Given the description of an element on the screen output the (x, y) to click on. 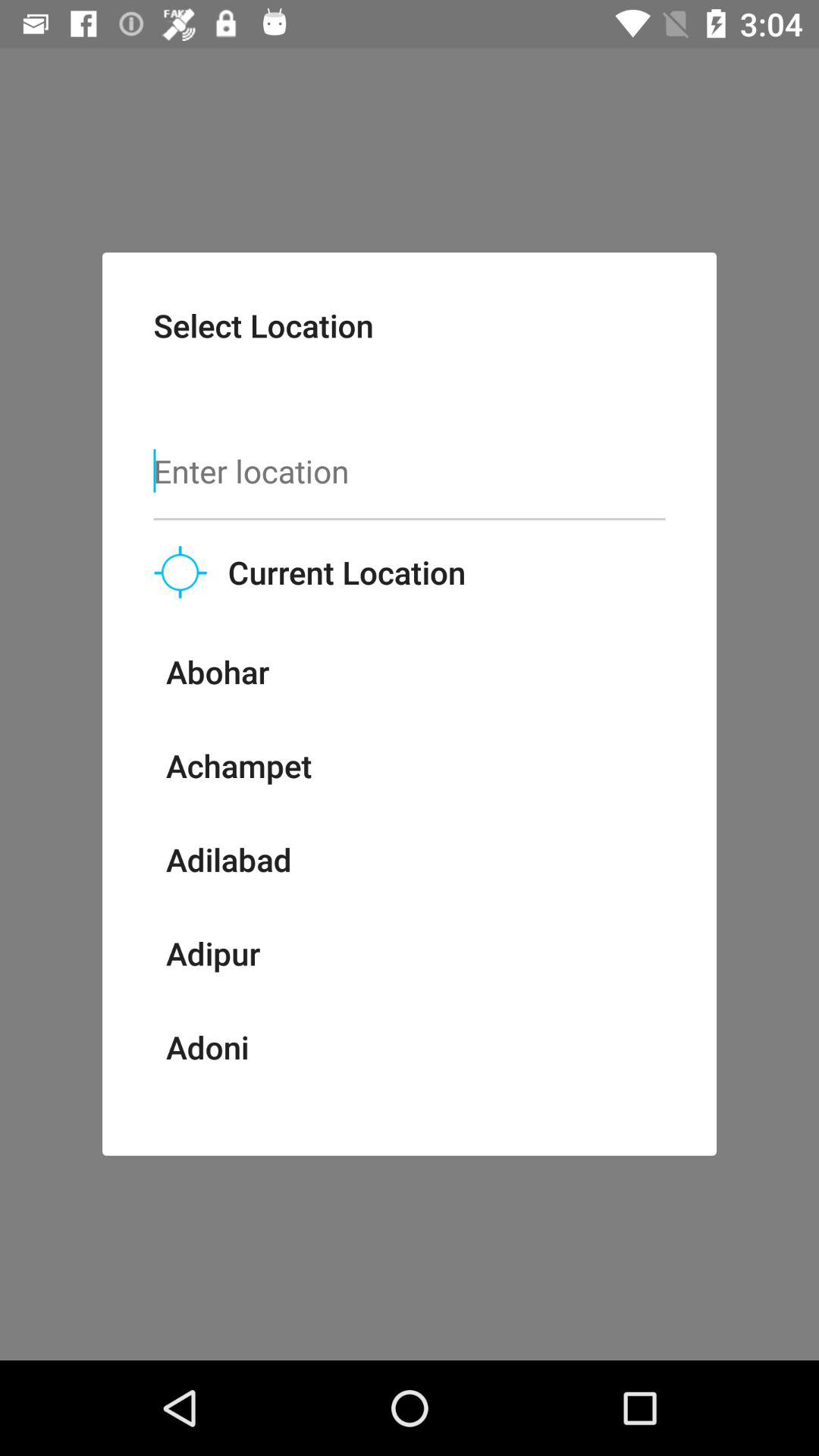
flip until the abohar (217, 684)
